Given the description of an element on the screen output the (x, y) to click on. 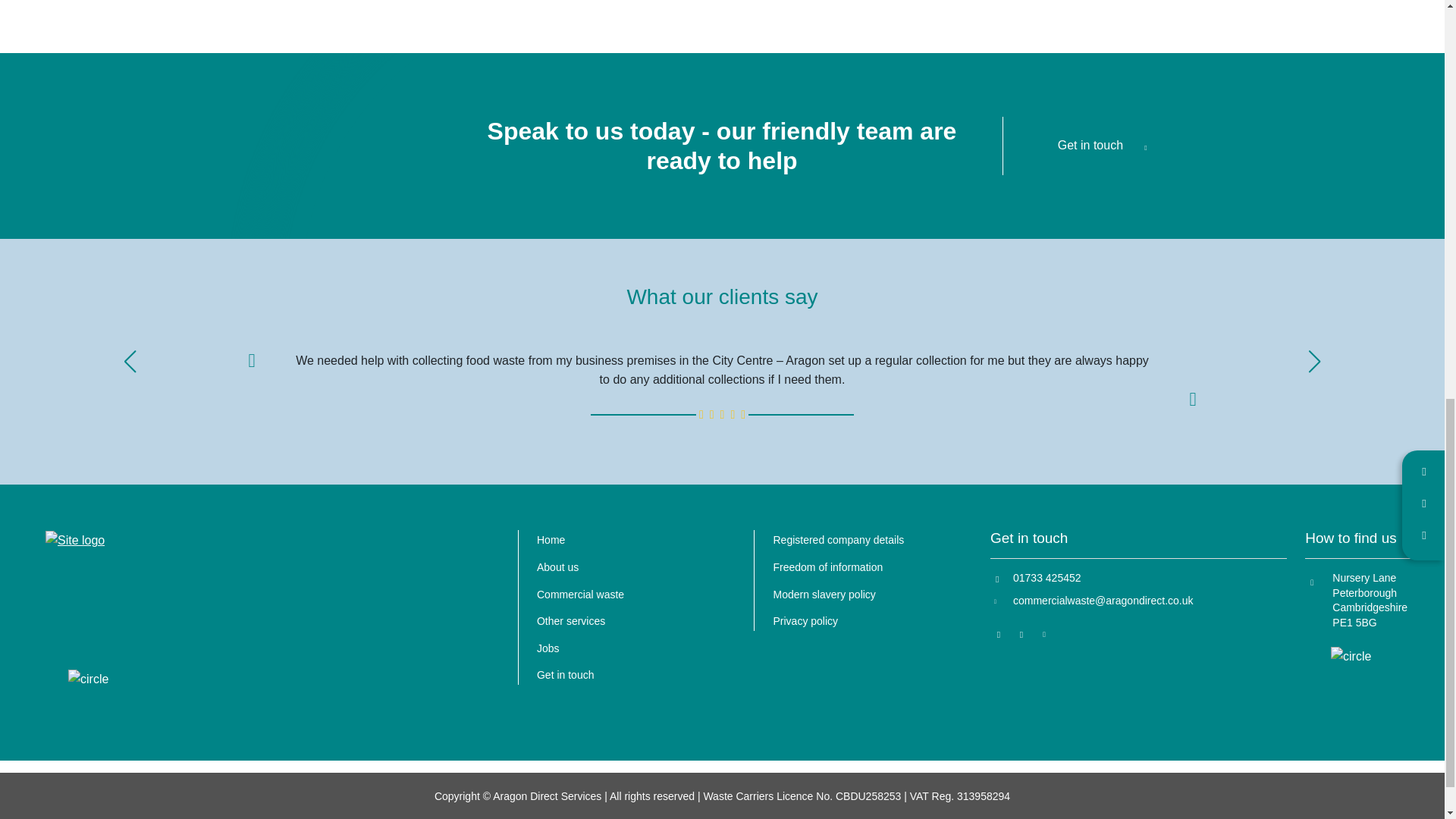
Email us (1135, 601)
Home (551, 539)
Get in touch (1106, 144)
Call us (1135, 578)
